Given the description of an element on the screen output the (x, y) to click on. 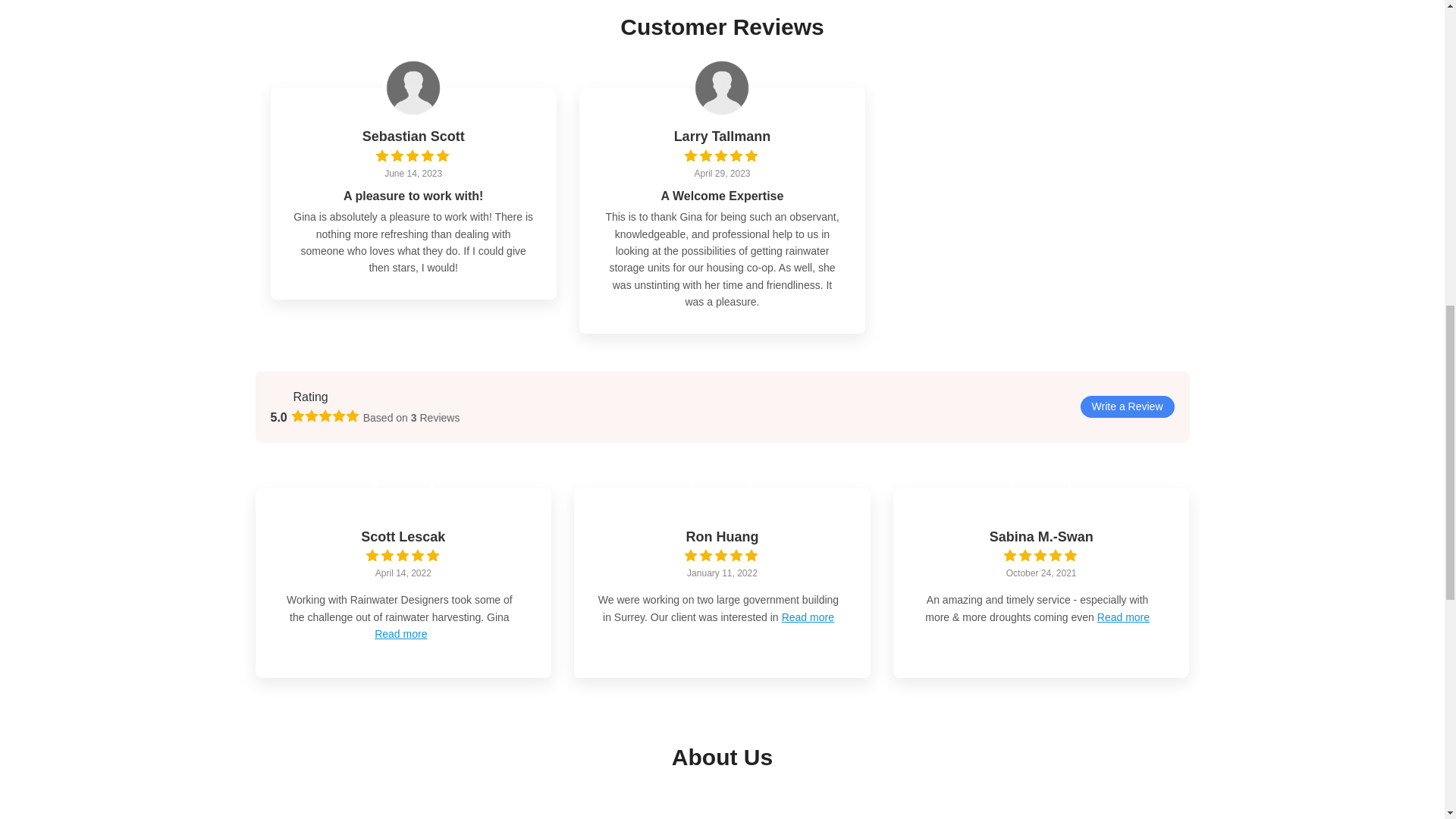
Write a Review (1127, 406)
Contact 5 (278, 396)
Nanaimo (977, 811)
Scott Lescak (403, 537)
Contact 3 (721, 87)
Contact 11 (721, 487)
Ron Huang (721, 537)
Sabina M.-Swan (1041, 537)
